Given the description of an element on the screen output the (x, y) to click on. 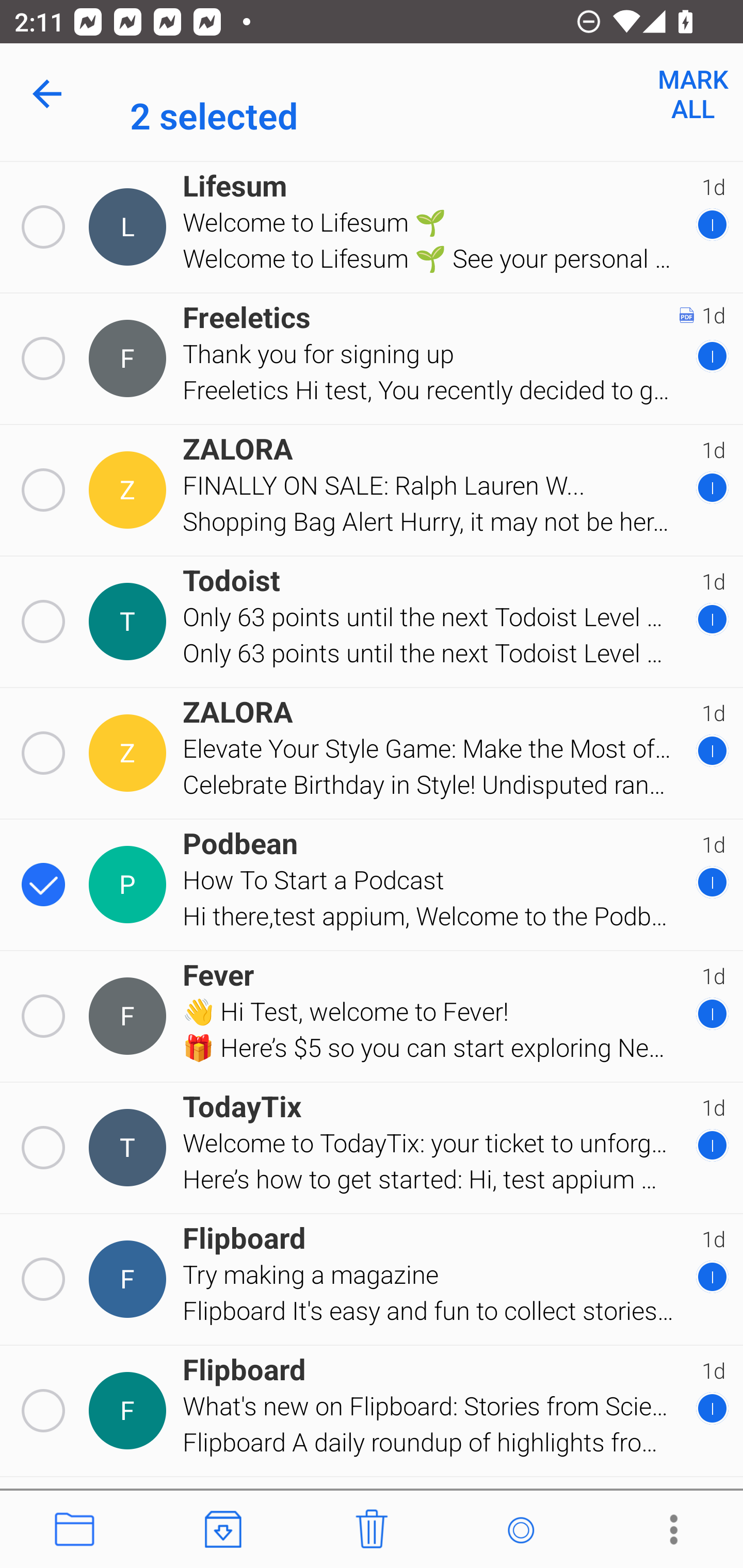
Done (50, 93)
MARK
ALL (692, 93)
Contact Details (129, 227)
Contact Details (129, 358)
Contact Details (129, 489)
Contact Details (129, 621)
Contact Details (129, 753)
Contact Details (129, 885)
Contact Details (129, 1016)
Contact Details (129, 1147)
Contact Details (129, 1279)
Contact Details (129, 1410)
Move (74, 1529)
Archive (222, 1529)
Delete (371, 1529)
Mark as Read (520, 1529)
More Options (668, 1529)
